Given the description of an element on the screen output the (x, y) to click on. 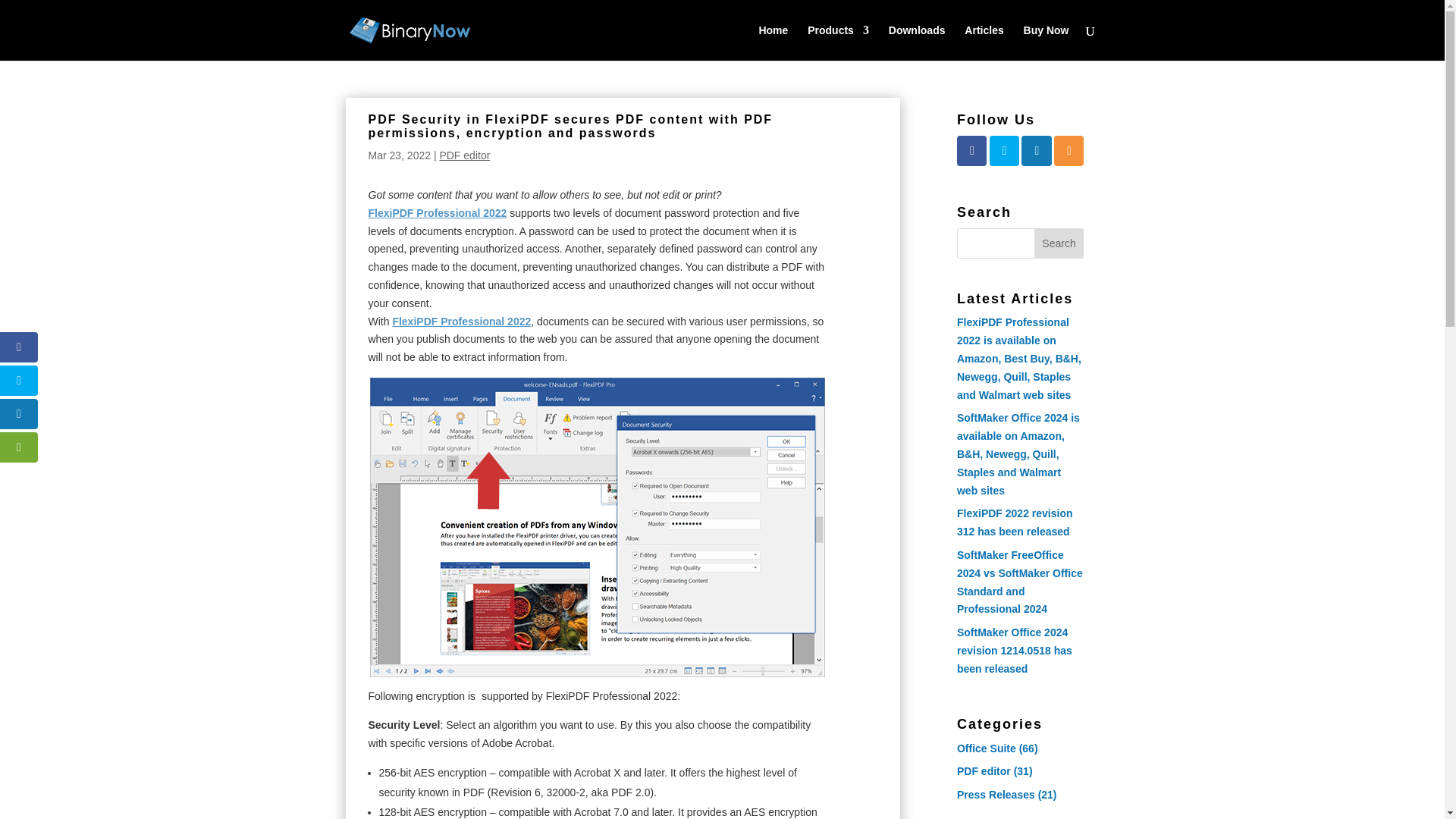
Downloads (916, 42)
Search (1058, 243)
Press Releases (995, 794)
FlexiPDF Professional 2022 (437, 213)
FlexiPDF 2022 revision 312 has been released (1014, 521)
Office Suite (986, 747)
FlexiPDF Professional 2022 (461, 321)
Buy Now (1045, 42)
Search (1058, 243)
PDF editor (464, 155)
Articles (983, 42)
Products (838, 42)
SoftMaker Office 2024 revision 1214.0518 has been released (1013, 650)
PDF editor (983, 770)
